Given the description of an element on the screen output the (x, y) to click on. 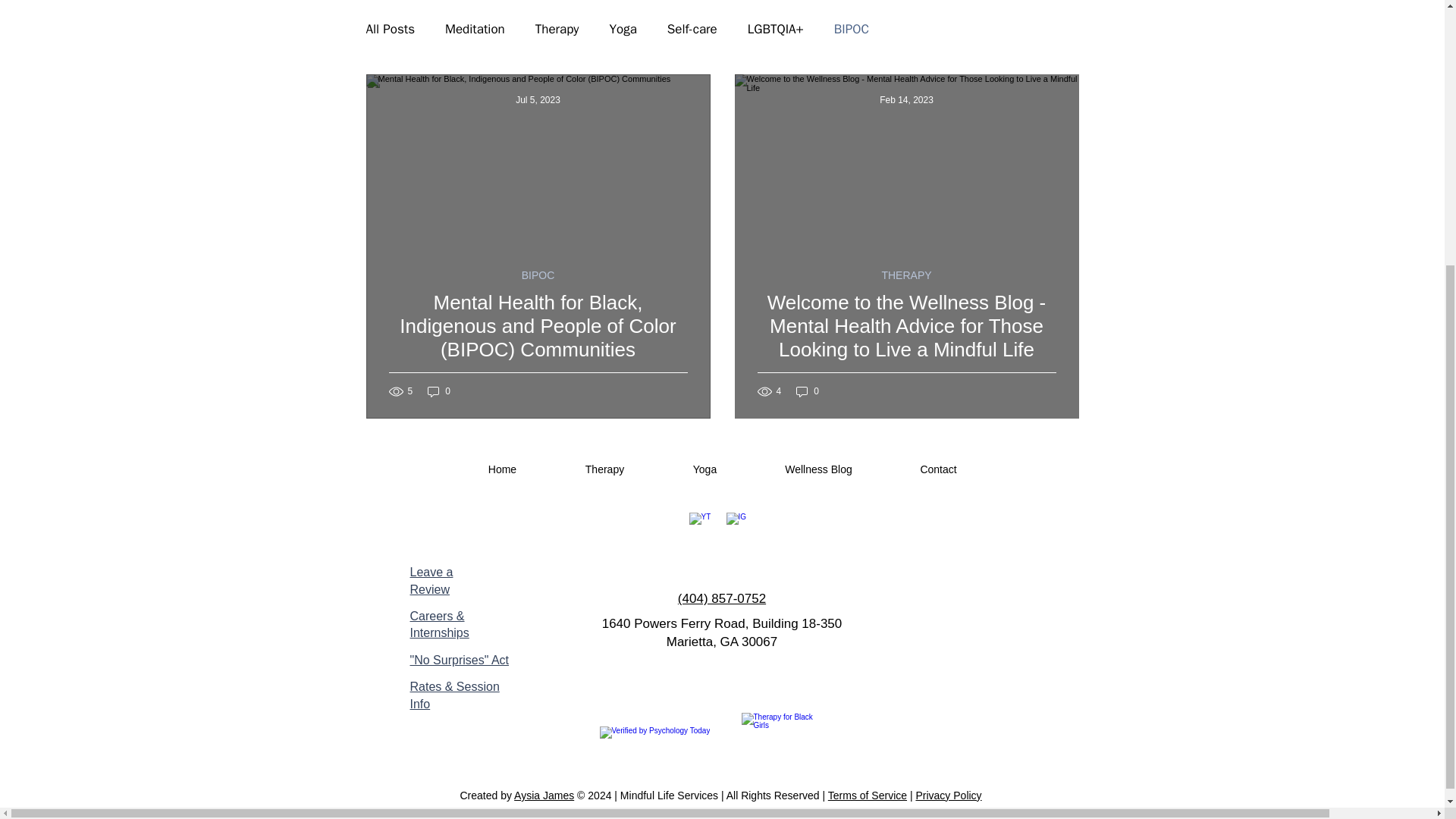
BIPOC (851, 28)
Home (501, 469)
THERAPY (905, 275)
Contact (937, 469)
Self-care (691, 28)
Wellness Blog (818, 469)
BIPOC (537, 275)
Leave a Review (430, 580)
Therapy (604, 469)
